Given the description of an element on the screen output the (x, y) to click on. 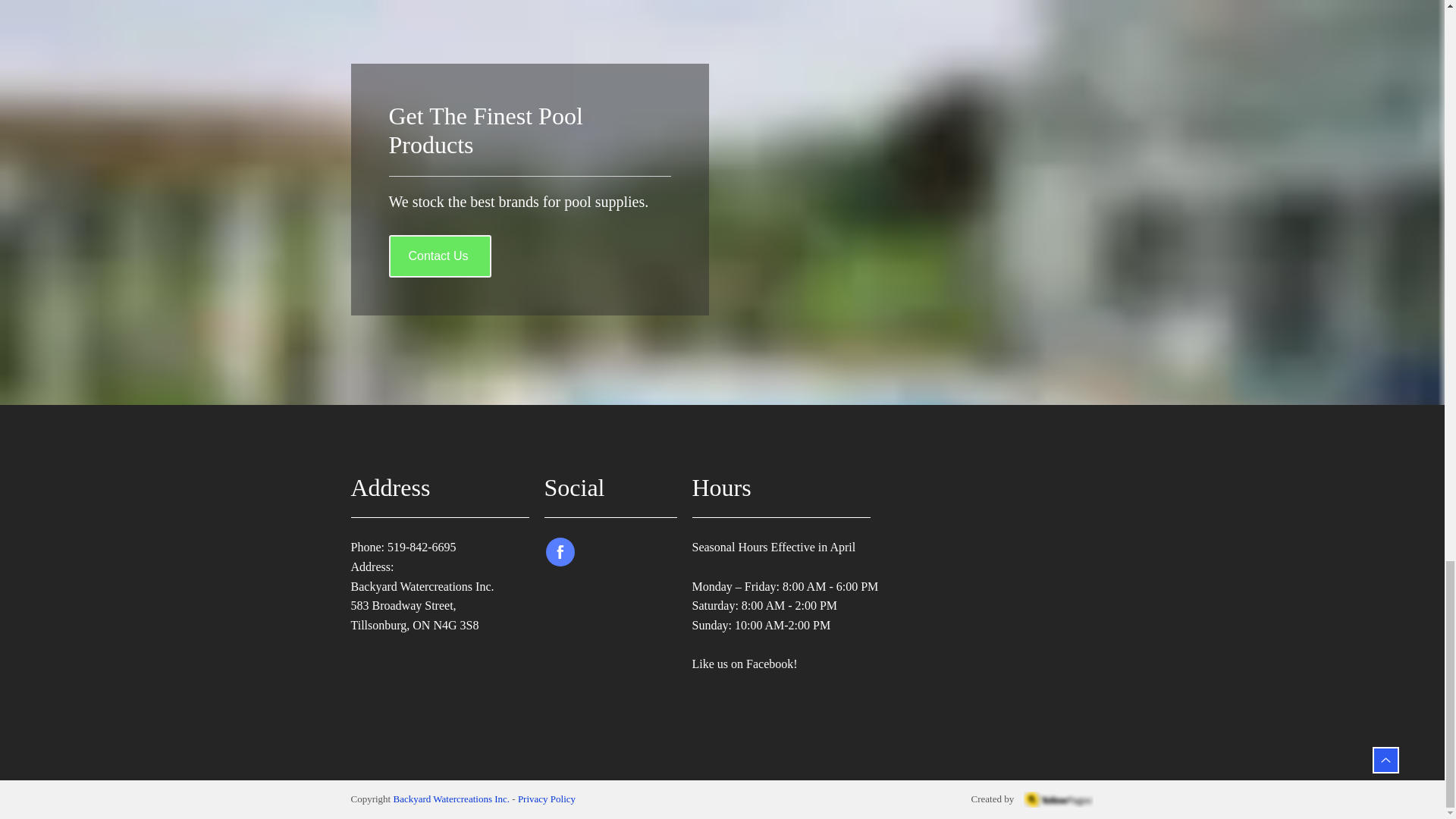
Embedded Content (606, 619)
Backyard Watercreations Inc. (451, 798)
Contact Us (439, 256)
Sunday: 10:00 AM-2:00 PM (760, 625)
519-842-6695 (422, 546)
Privacy Policy (546, 798)
Embedded Content (606, 585)
Saturday: 8:00 AM - 2:00 PM (764, 604)
